Given the description of an element on the screen output the (x, y) to click on. 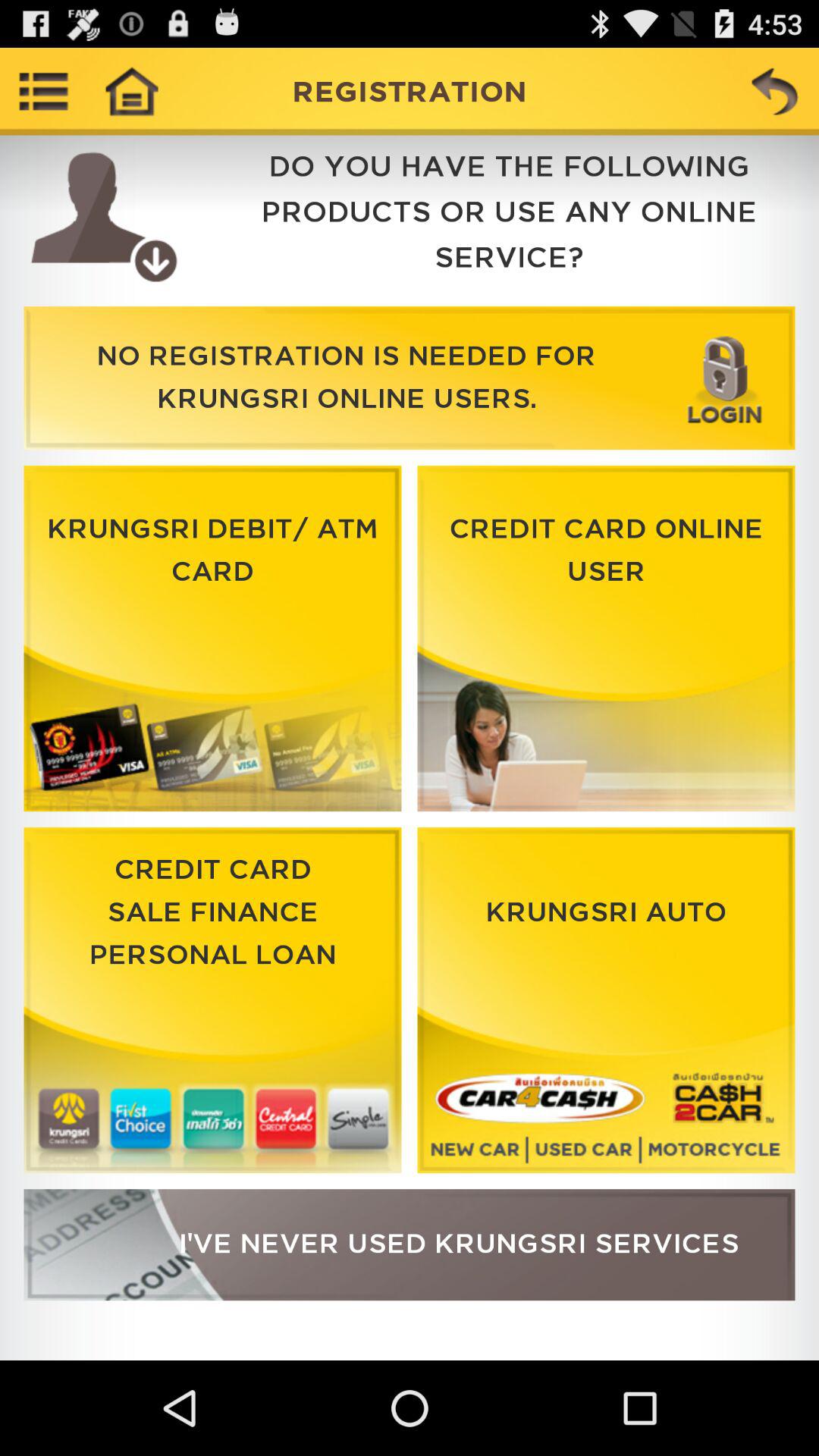
shows setting icon (43, 91)
